Given the description of an element on the screen output the (x, y) to click on. 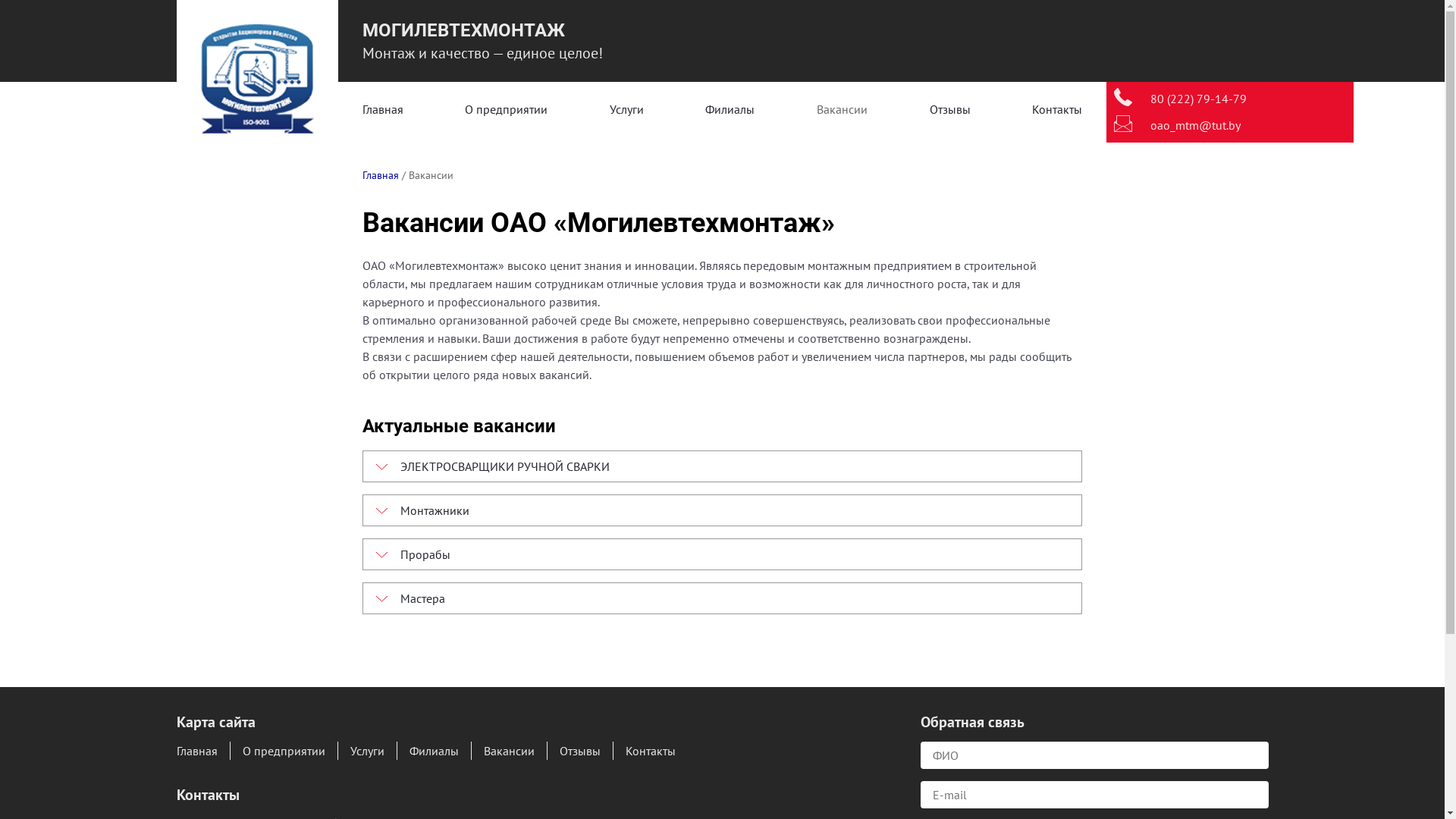
80 (222) 79-14-79 Element type: text (1198, 98)
